Given the description of an element on the screen output the (x, y) to click on. 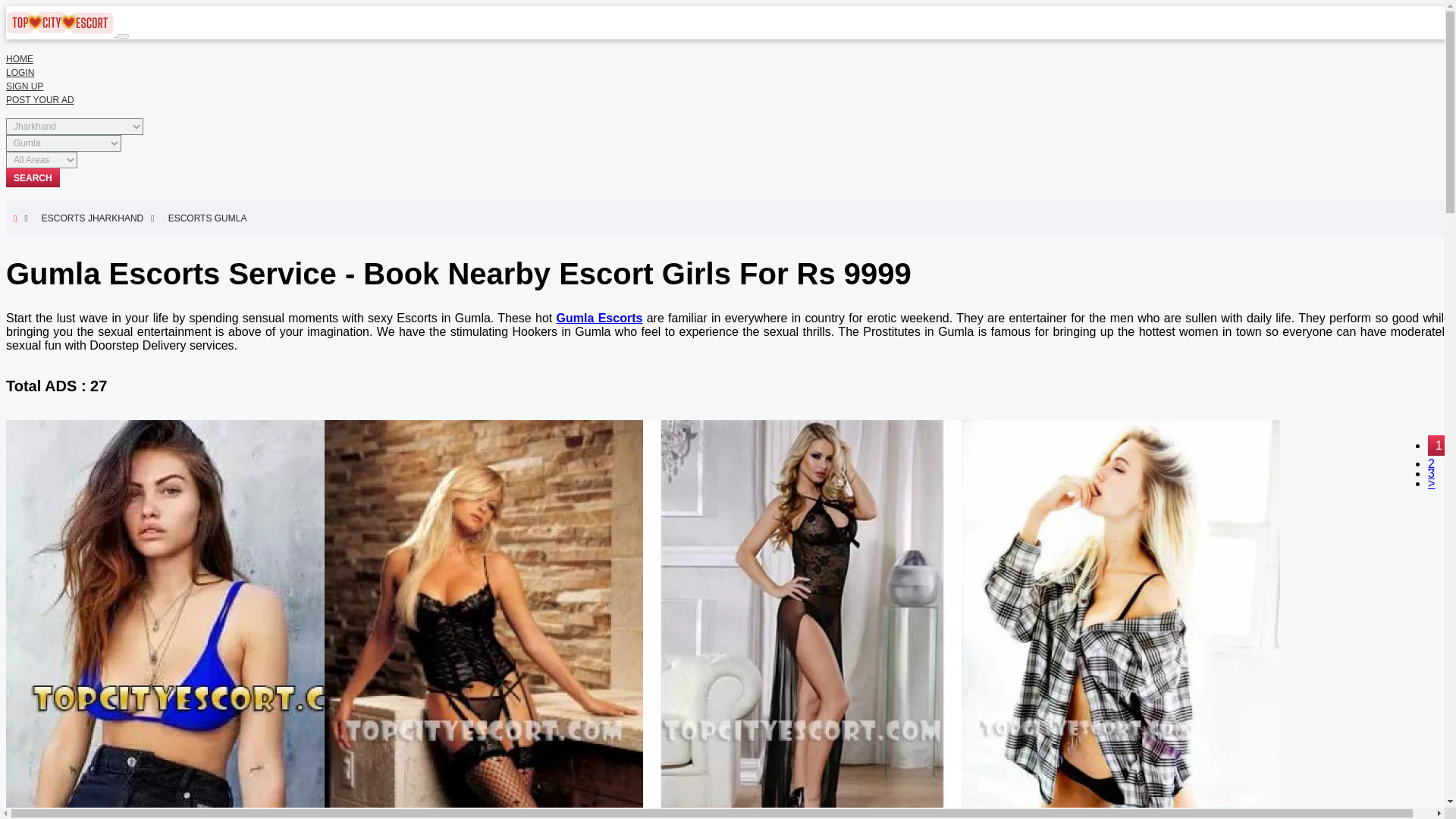
SIGN UP (24, 86)
Search (32, 177)
POST YOUR AD (39, 100)
ESCORTS JHARKHAND (98, 217)
Gumla Escorts (599, 318)
Search (32, 177)
ESCORTS GUMLA (211, 217)
HOME (19, 59)
LOGIN (19, 72)
1 (1439, 444)
